Given the description of an element on the screen output the (x, y) to click on. 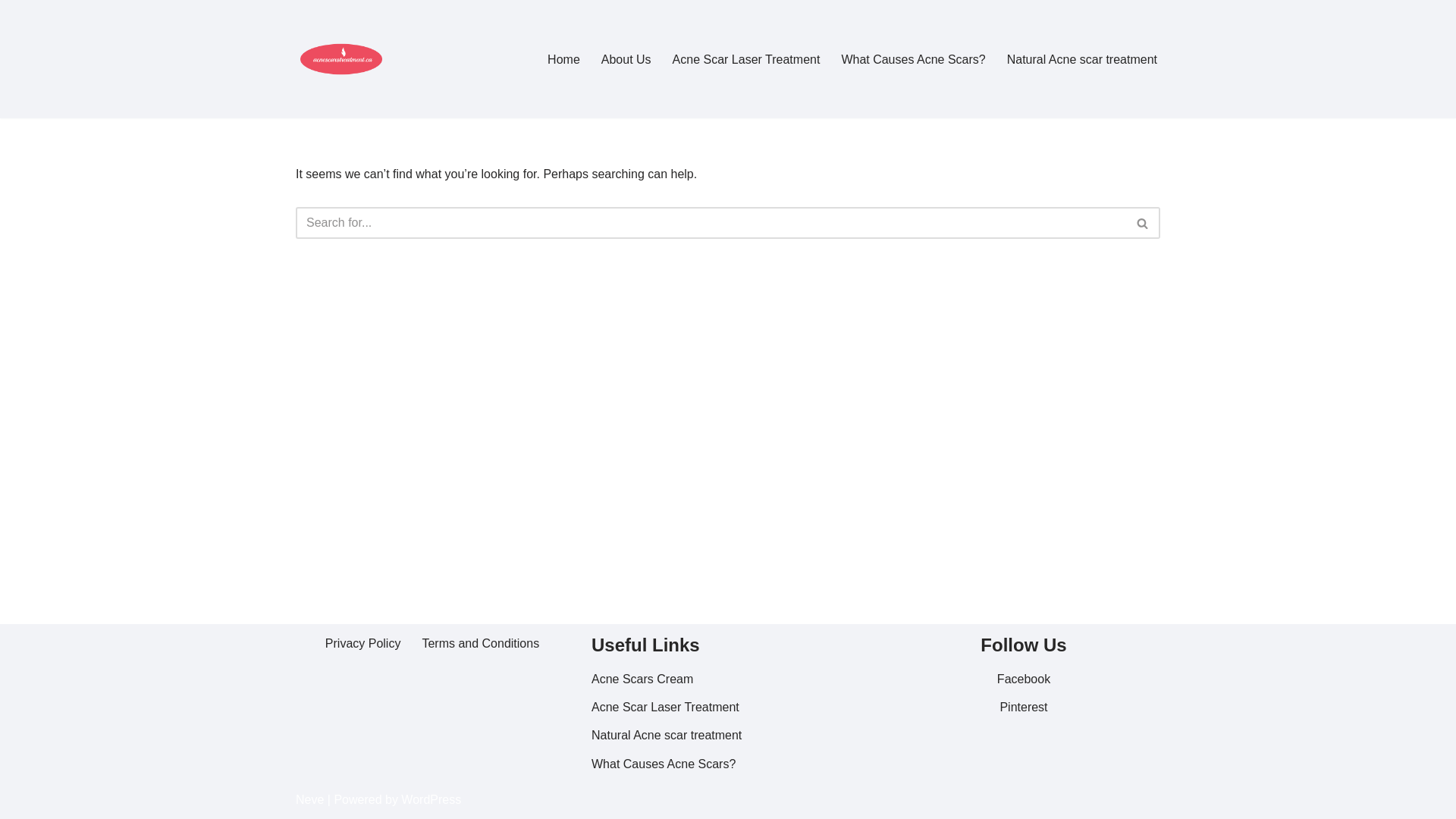
Skip to content Element type: text (11, 31)
Acne Scars Cream Element type: text (642, 678)
Acne Scar Laser Treatment Element type: text (665, 706)
Neve Element type: text (309, 799)
Privacy Policy Element type: text (363, 643)
Natural Acne scar treatment Element type: text (1082, 59)
Natural Acne scar treatment Element type: text (666, 734)
Home Element type: text (563, 59)
Facebook Element type: text (1023, 678)
Terms and Conditions Element type: text (480, 643)
WordPress Element type: text (431, 799)
What Causes Acne Scars? Element type: text (912, 59)
What Causes Acne Scars? Element type: text (663, 763)
Acne Scar Laser Treatment Element type: text (746, 59)
Pinterest Element type: text (1023, 706)
About Us Element type: text (626, 59)
